Given the description of an element on the screen output the (x, y) to click on. 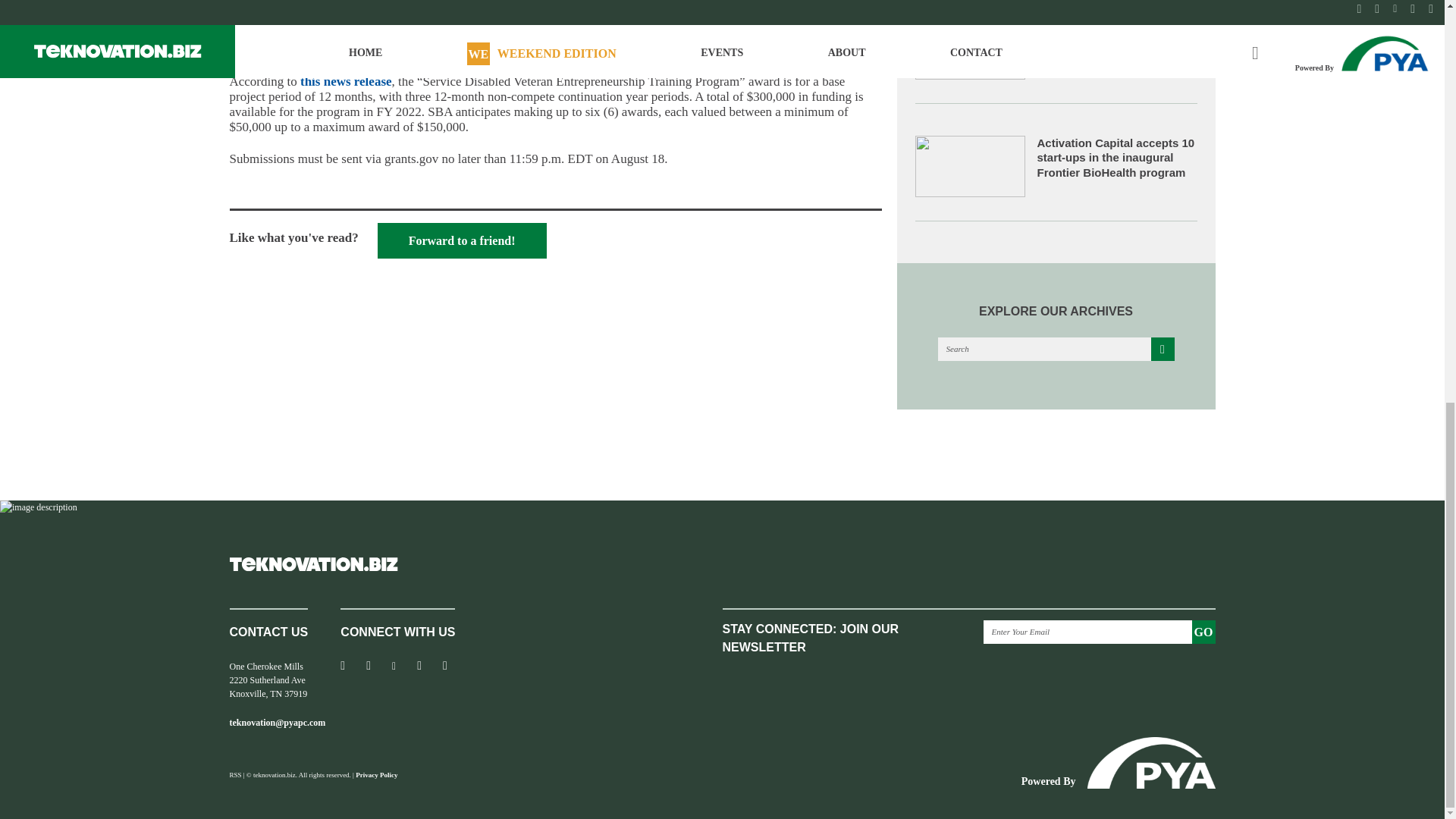
this news release (345, 81)
Forward to a friend! (462, 240)
Go (1203, 631)
Forward to a Friend by Email (462, 240)
